Given the description of an element on the screen output the (x, y) to click on. 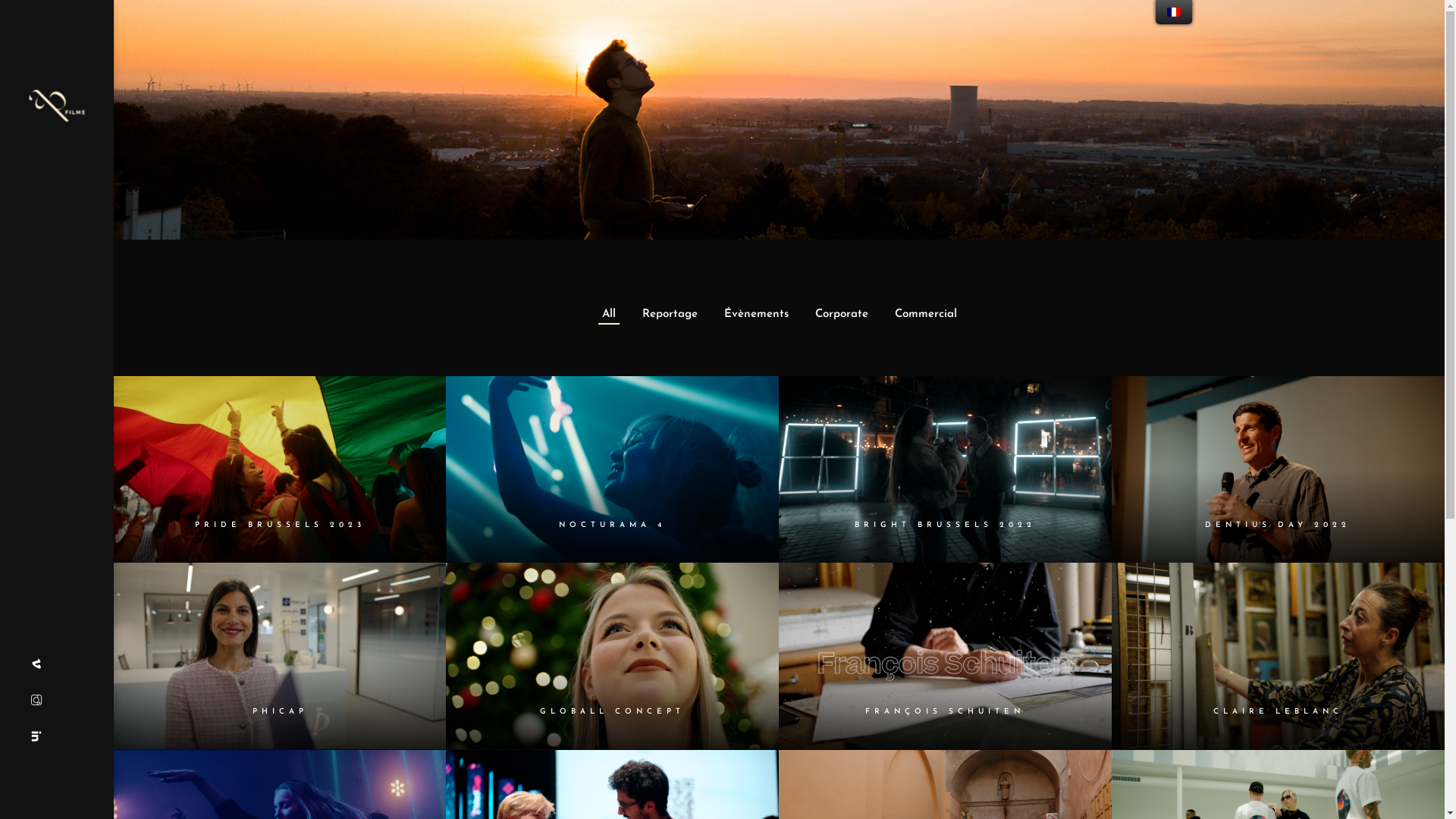
CLAIRE LEBLANC Element type: text (1278, 711)
NOCTURAMA 4 Element type: text (611, 469)
Corporate Element type: text (841, 314)
Reportage Element type: text (669, 314)
BRIGHT BRUSSELS 2022 Element type: text (944, 469)
GLOBALL CONCEPT Element type: text (611, 711)
GLOBALL CONCEPT Element type: text (611, 655)
DENTIUS DAY 2022 Element type: text (1277, 524)
French Element type: hover (1173, 11)
NOCTURAMA 4 Element type: text (611, 524)
PHICAP Element type: text (279, 655)
DENTIUS DAY 2022 Element type: text (1277, 469)
PRIDE BRUSSELS 2023 Element type: text (279, 469)
CLAIRE LEBLANC Element type: text (1277, 655)
Commercial Element type: text (925, 314)
BRIGHT BRUSSELS 2022 Element type: text (944, 524)
All Element type: text (607, 314)
PHICAP Element type: text (279, 711)
PRIDE BRUSSELS 2023 Element type: text (279, 524)
